Given the description of an element on the screen output the (x, y) to click on. 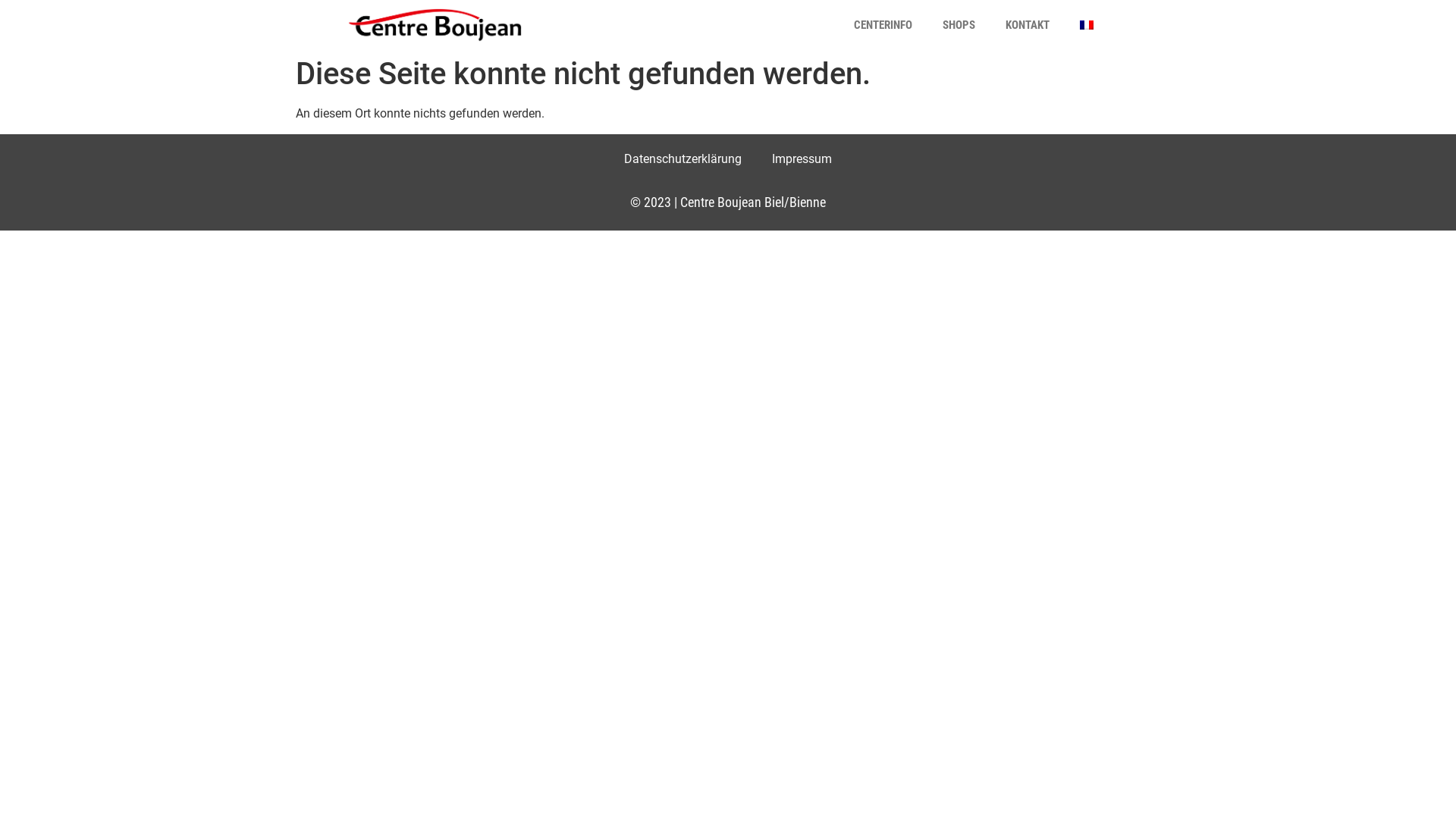
KONTAKT Element type: text (1027, 24)
CENTERINFO Element type: text (882, 24)
SHOPS Element type: text (958, 24)
Impressum Element type: text (801, 158)
